Given the description of an element on the screen output the (x, y) to click on. 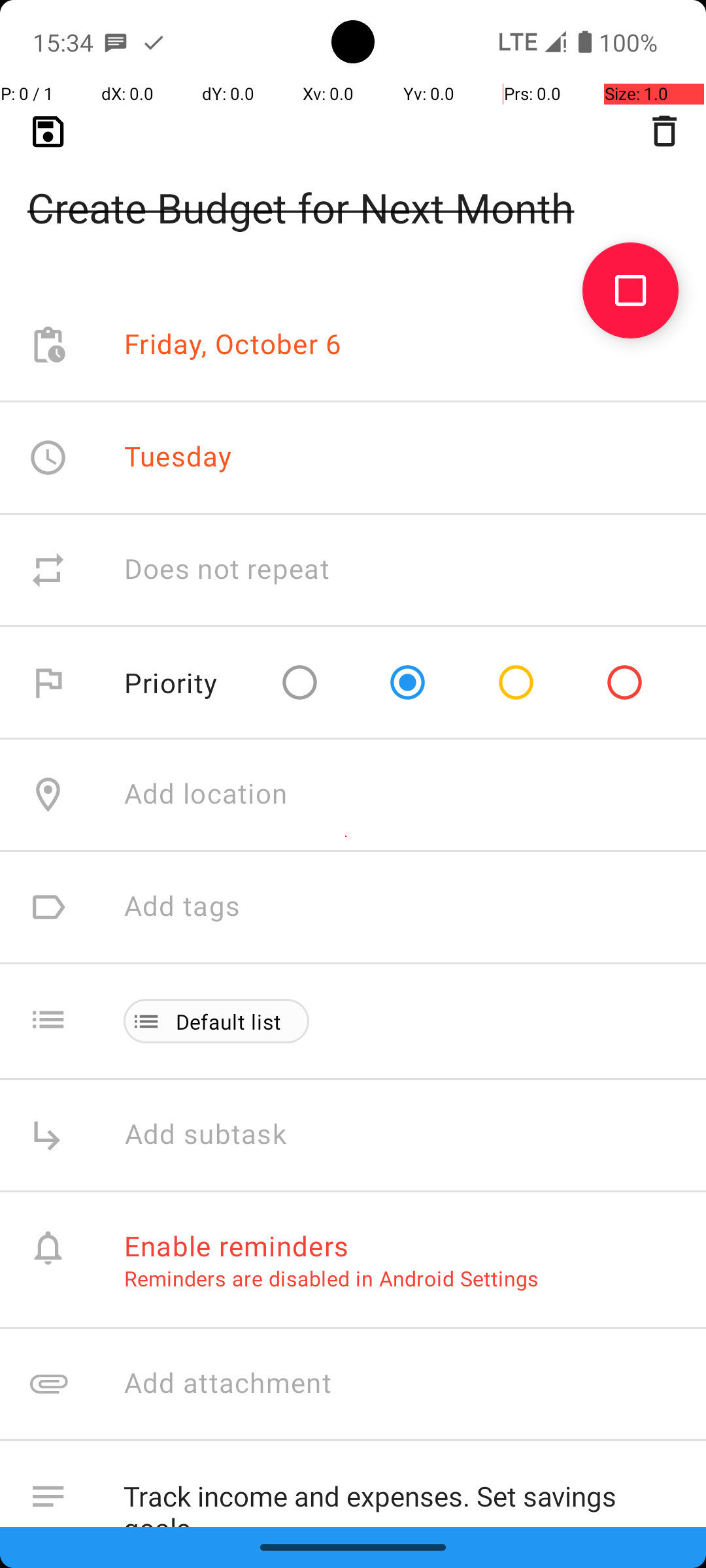
Friday, October 6 Element type: android.widget.TextView (232, 344)
